Given the description of an element on the screen output the (x, y) to click on. 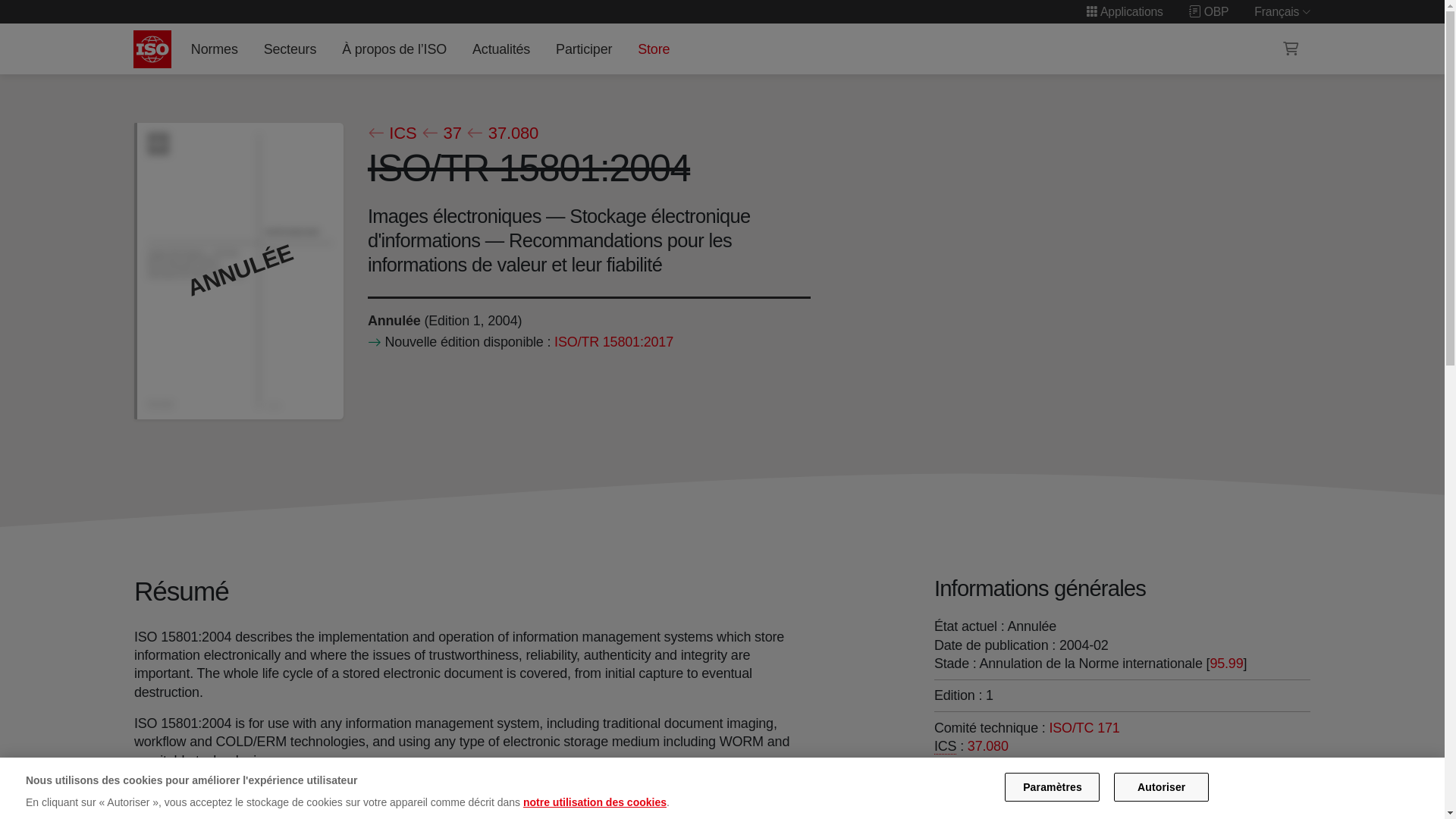
Store (654, 48)
RSS (956, 775)
 OBP (1208, 11)
Normes (214, 48)
Panier d'achat (1290, 49)
Portail des applications de l'ISO (1124, 11)
ICS (391, 133)
37 (441, 133)
Plateforme de consultation en ligne (1208, 11)
Applications imagerie documentaire (988, 745)
Participer (584, 48)
Cycle de vie (393, 320)
95.99 (1226, 663)
Secteurs (290, 48)
 Applications (1124, 11)
